Given the description of an element on the screen output the (x, y) to click on. 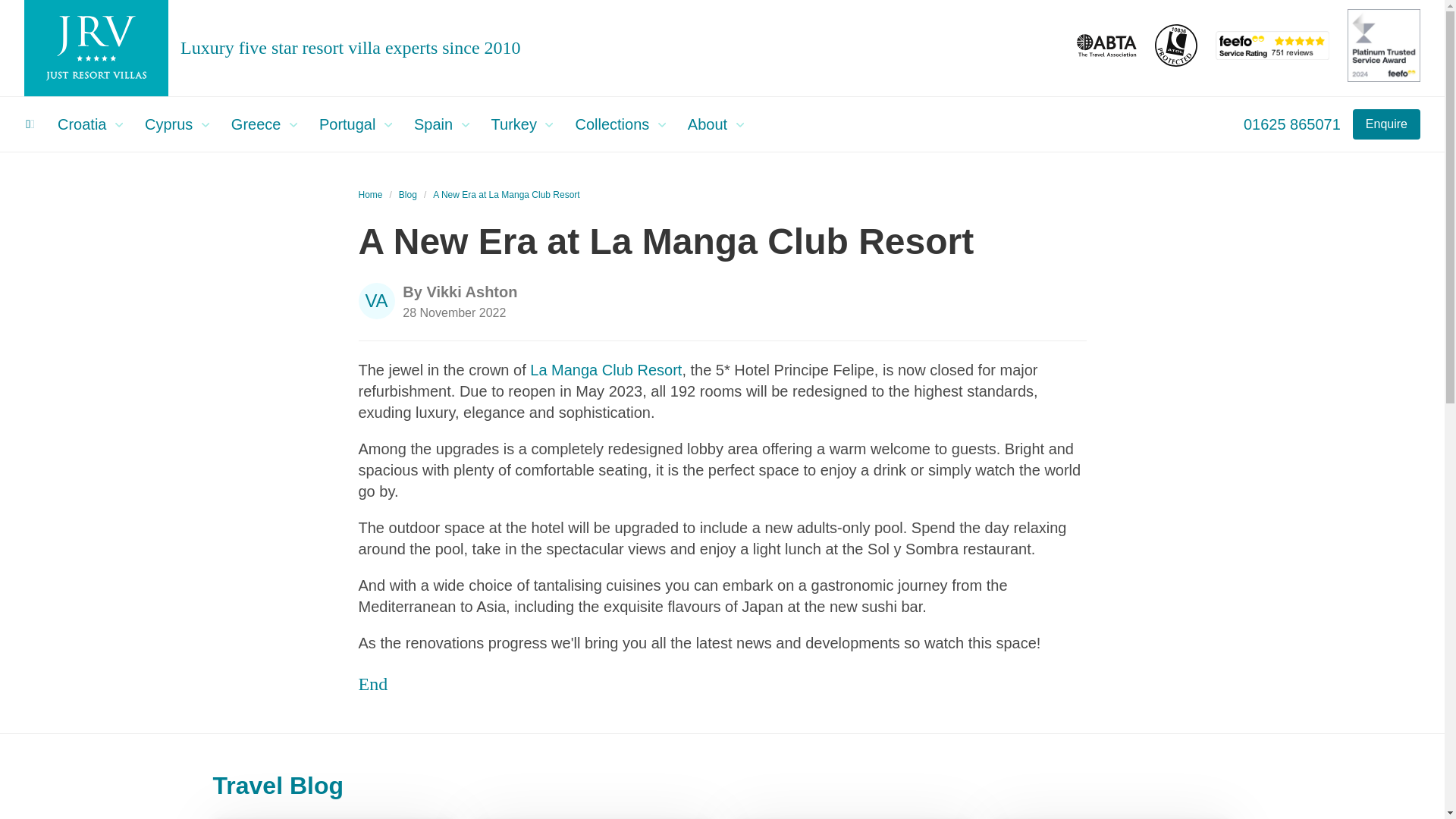
Cyprus (181, 124)
See what our customers say about us (1272, 55)
Croatia (94, 124)
Greece (269, 124)
Portugal (360, 124)
